Given the description of an element on the screen output the (x, y) to click on. 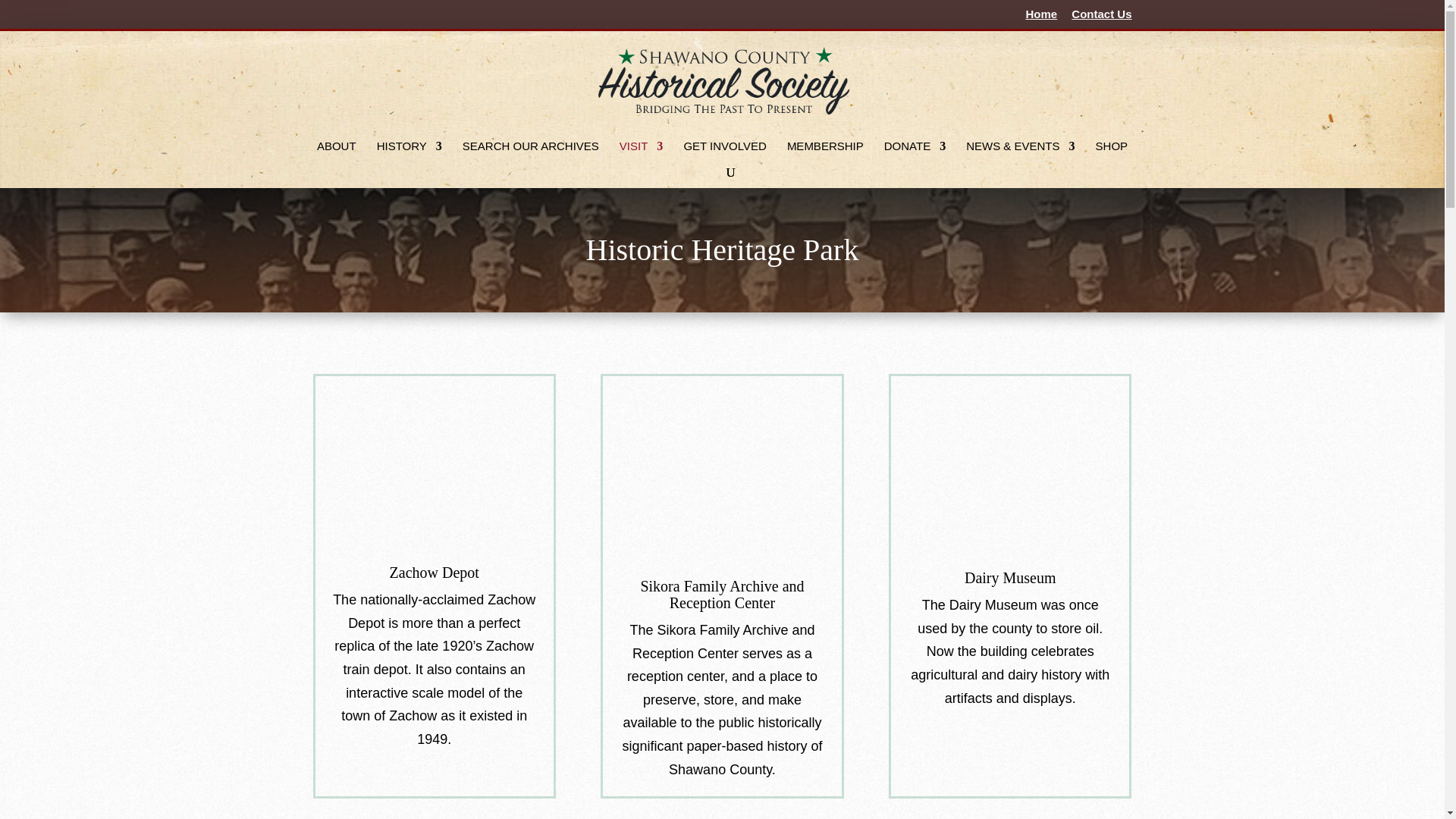
VISIT (641, 155)
Contact Us (1101, 17)
MEMBERSHIP (825, 155)
ABOUT (336, 155)
DONATE (913, 155)
GET INVOLVED (723, 155)
SEARCH OUR ARCHIVES (530, 155)
SHOP (1112, 155)
Home (1041, 17)
HISTORY (409, 155)
